Given the description of an element on the screen output the (x, y) to click on. 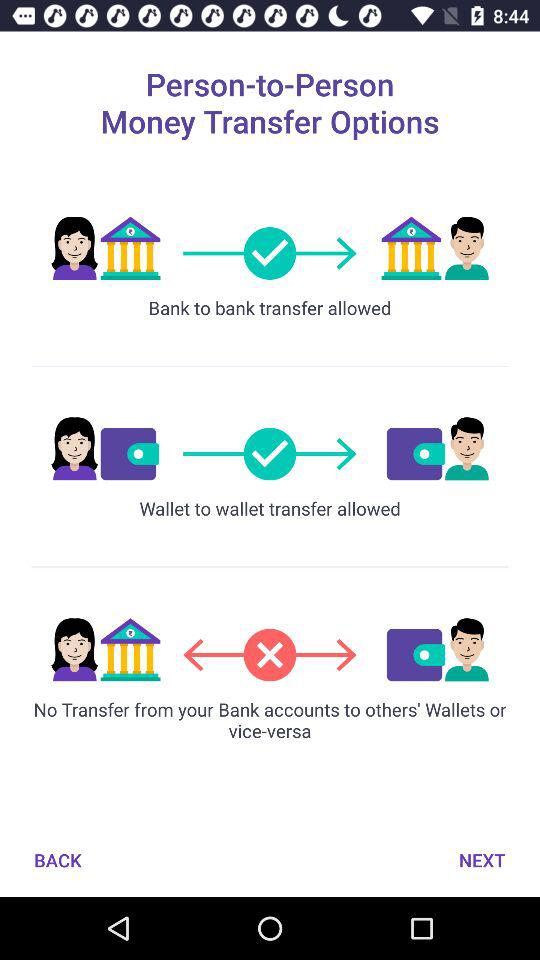
select the next button which is on the bottom right of the page (482, 859)
